Given the description of an element on the screen output the (x, y) to click on. 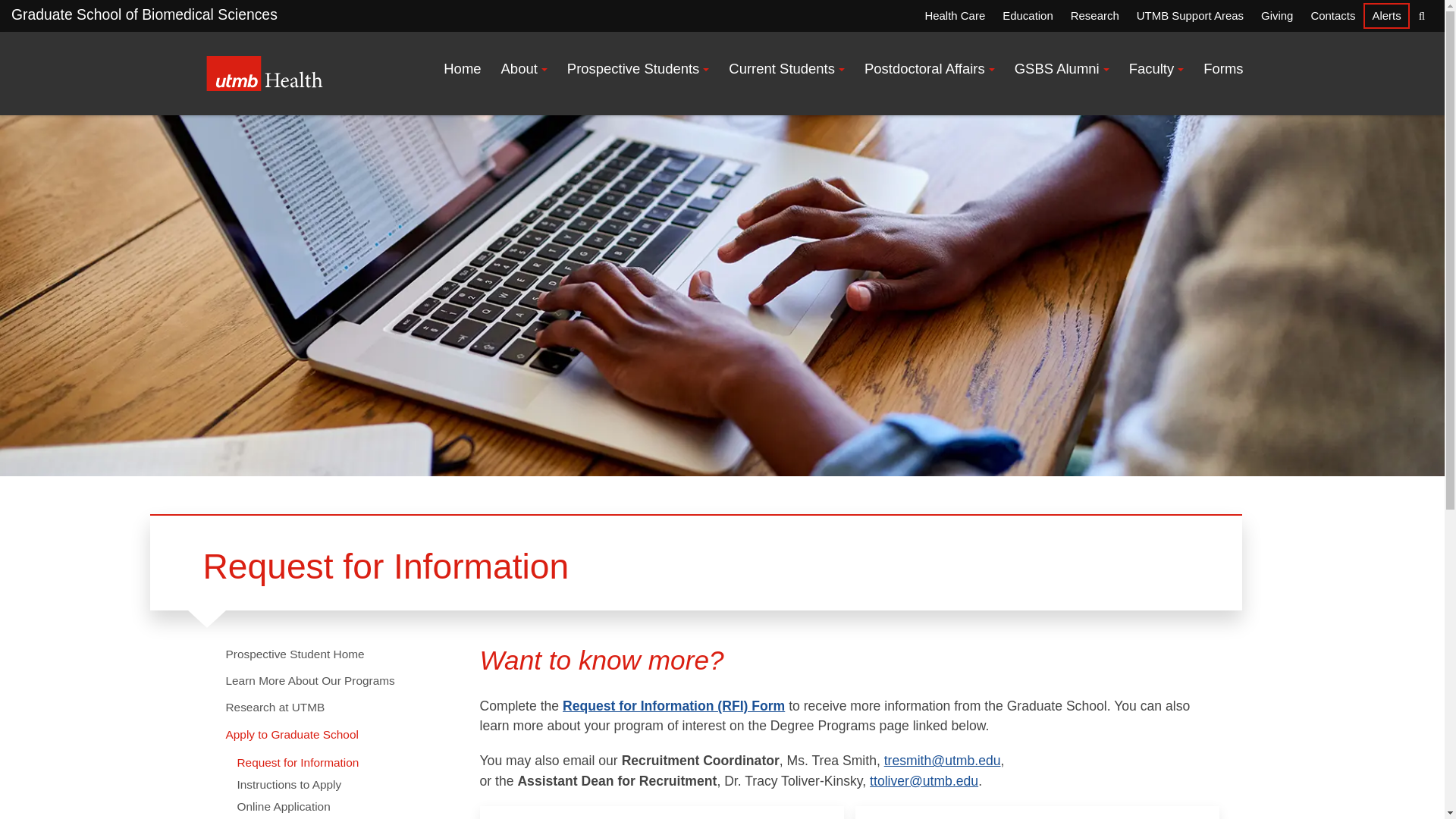
Graduate School of Biomedical Sciences (144, 14)
Education (1026, 15)
Search (1420, 15)
Home (461, 68)
The University of Texas Medical Branch (265, 73)
Contacts (1331, 15)
Prospective Students (638, 68)
Health Care (953, 15)
Giving (1276, 15)
UTMB Support Areas (1189, 15)
